Given the description of an element on the screen output the (x, y) to click on. 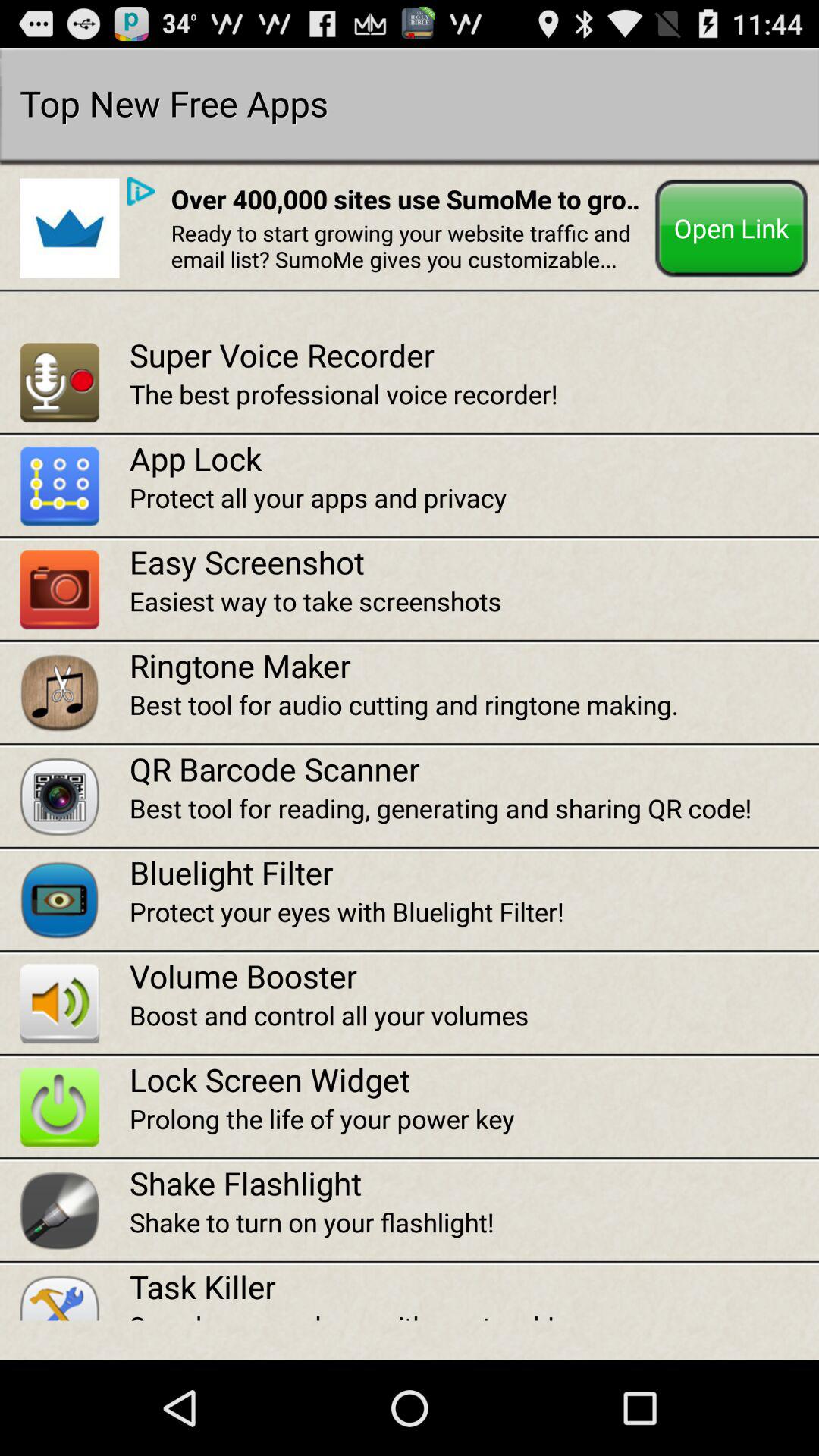
tap app lock (474, 458)
